Given the description of an element on the screen output the (x, y) to click on. 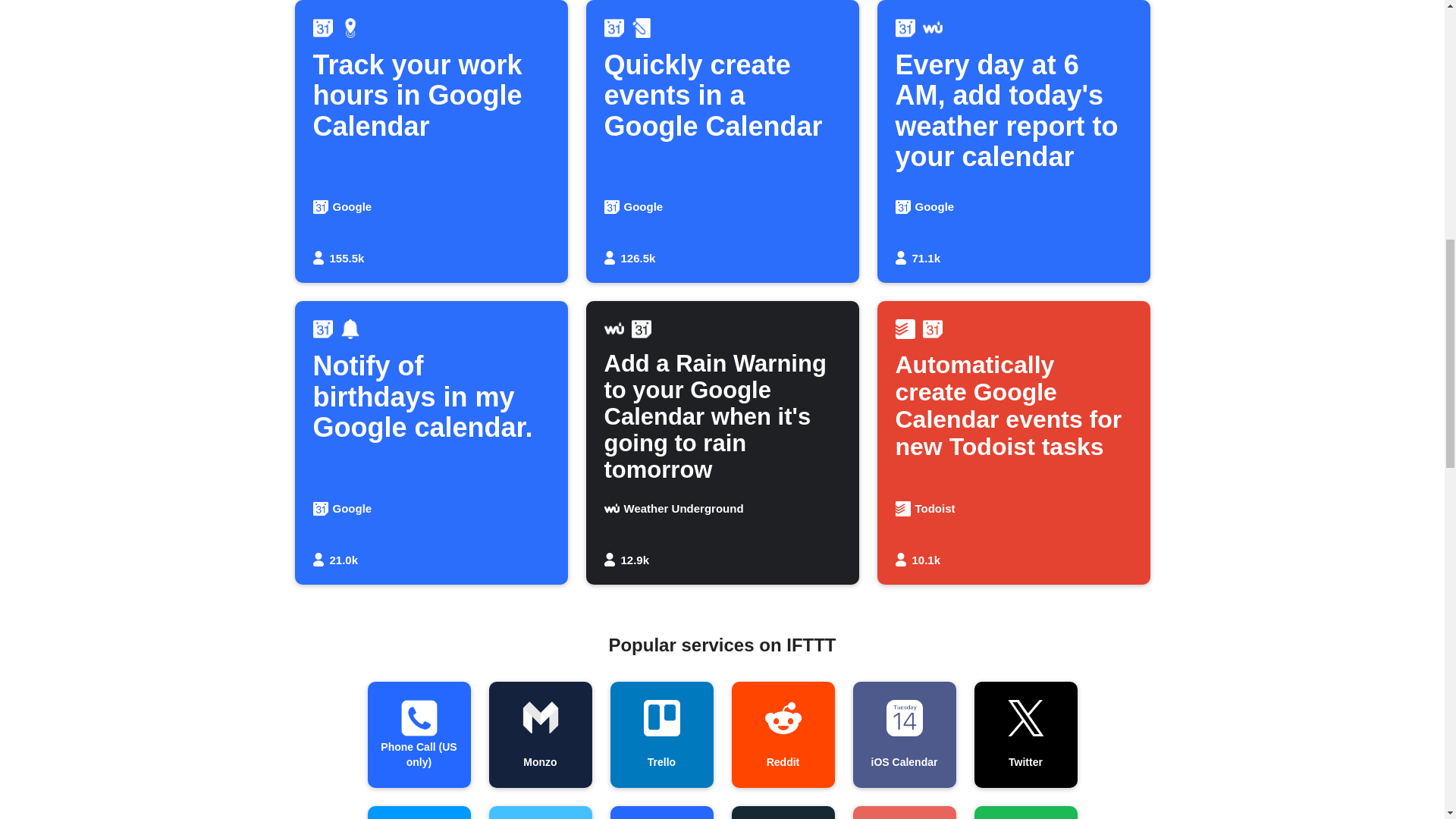
Trello (661, 734)
Location (418, 812)
Twitter (430, 442)
Reddit (1025, 734)
iOS Calendar (782, 734)
Monzo (903, 734)
